Given the description of an element on the screen output the (x, y) to click on. 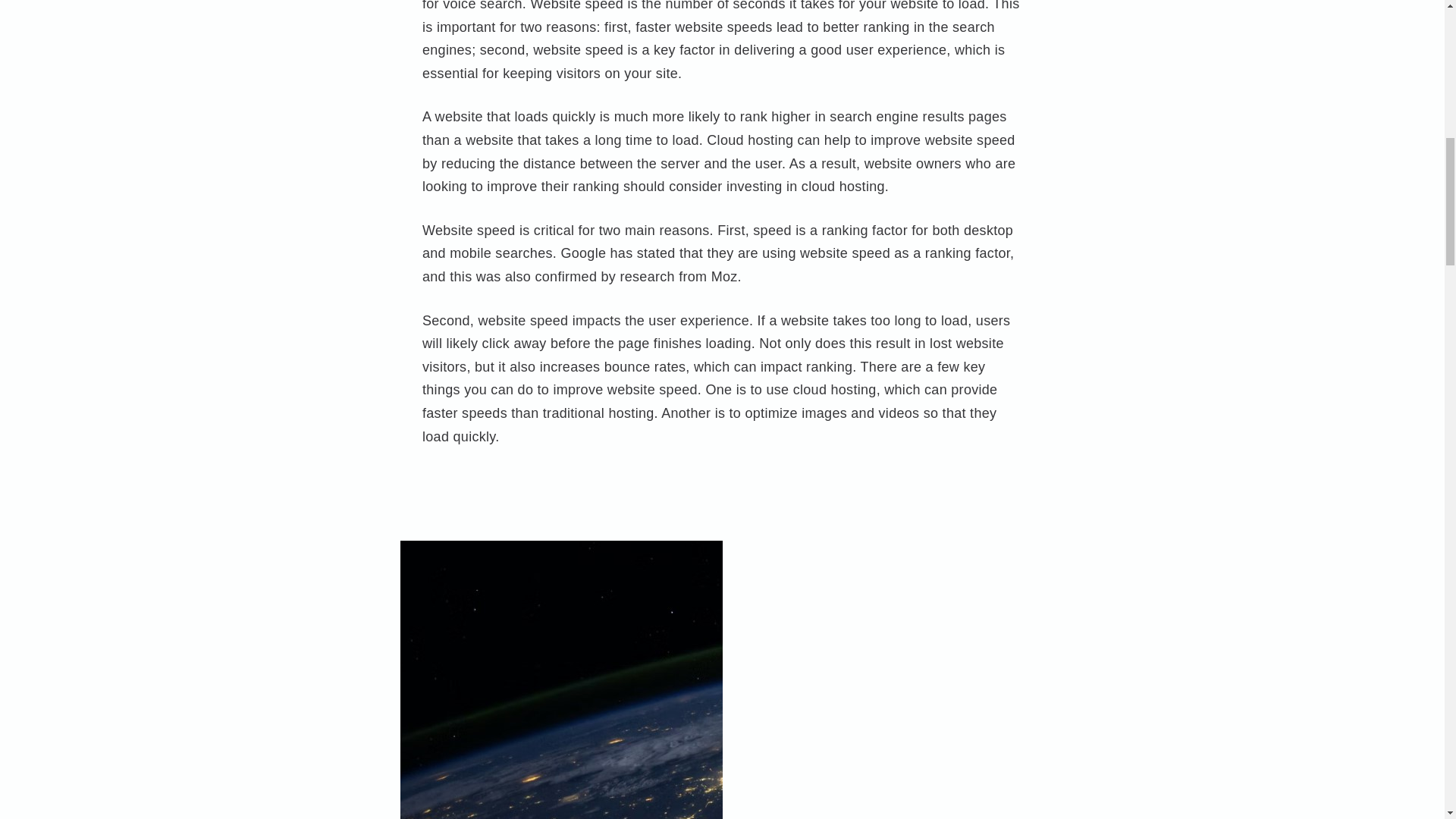
Scroll back to top (1406, 720)
